Given the description of an element on the screen output the (x, y) to click on. 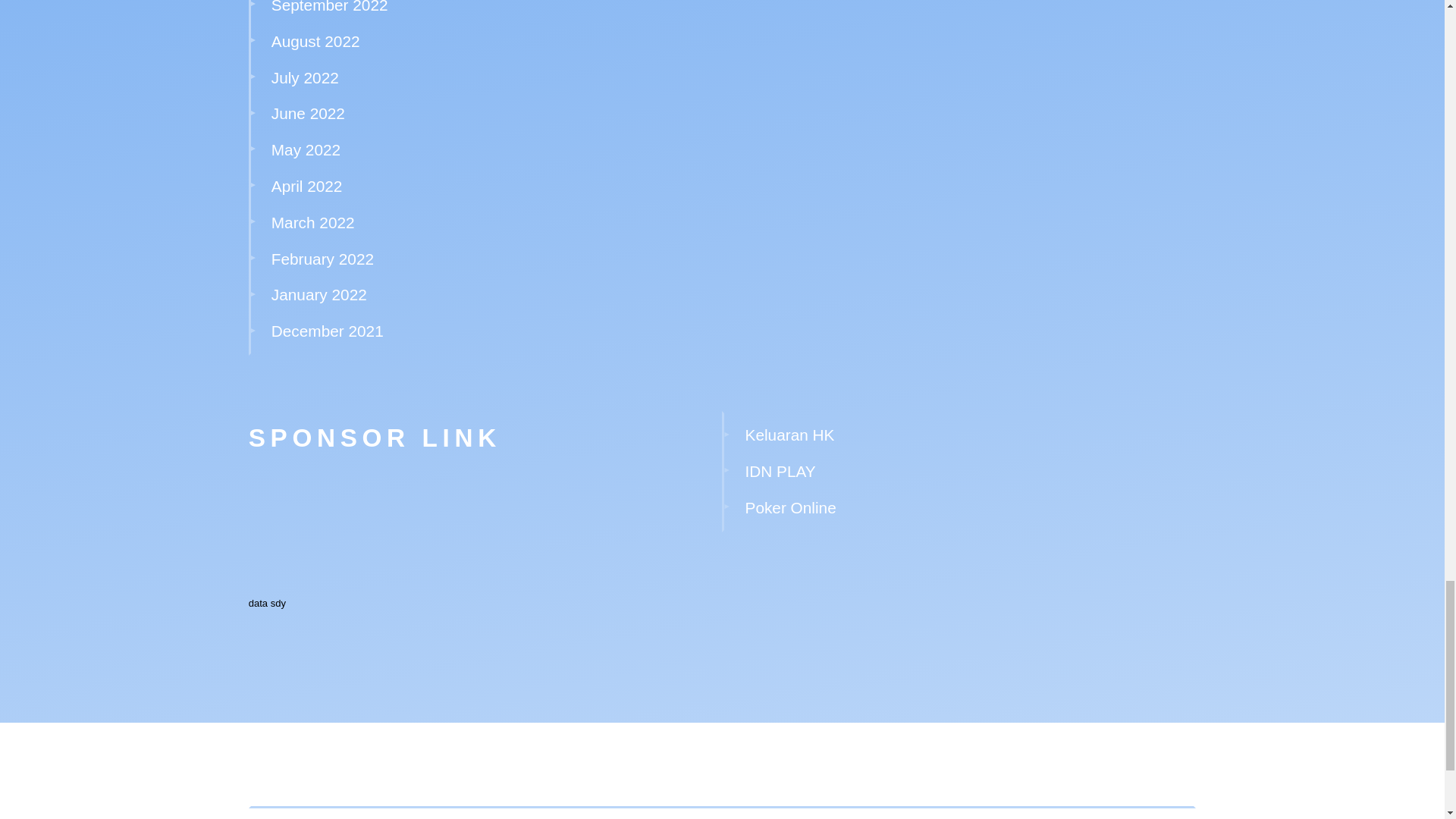
July 2022 (304, 77)
August 2022 (314, 40)
September 2022 (329, 6)
February 2022 (322, 258)
March 2022 (312, 221)
May 2022 (305, 149)
June 2022 (307, 113)
April 2022 (306, 185)
